Given the description of an element on the screen output the (x, y) to click on. 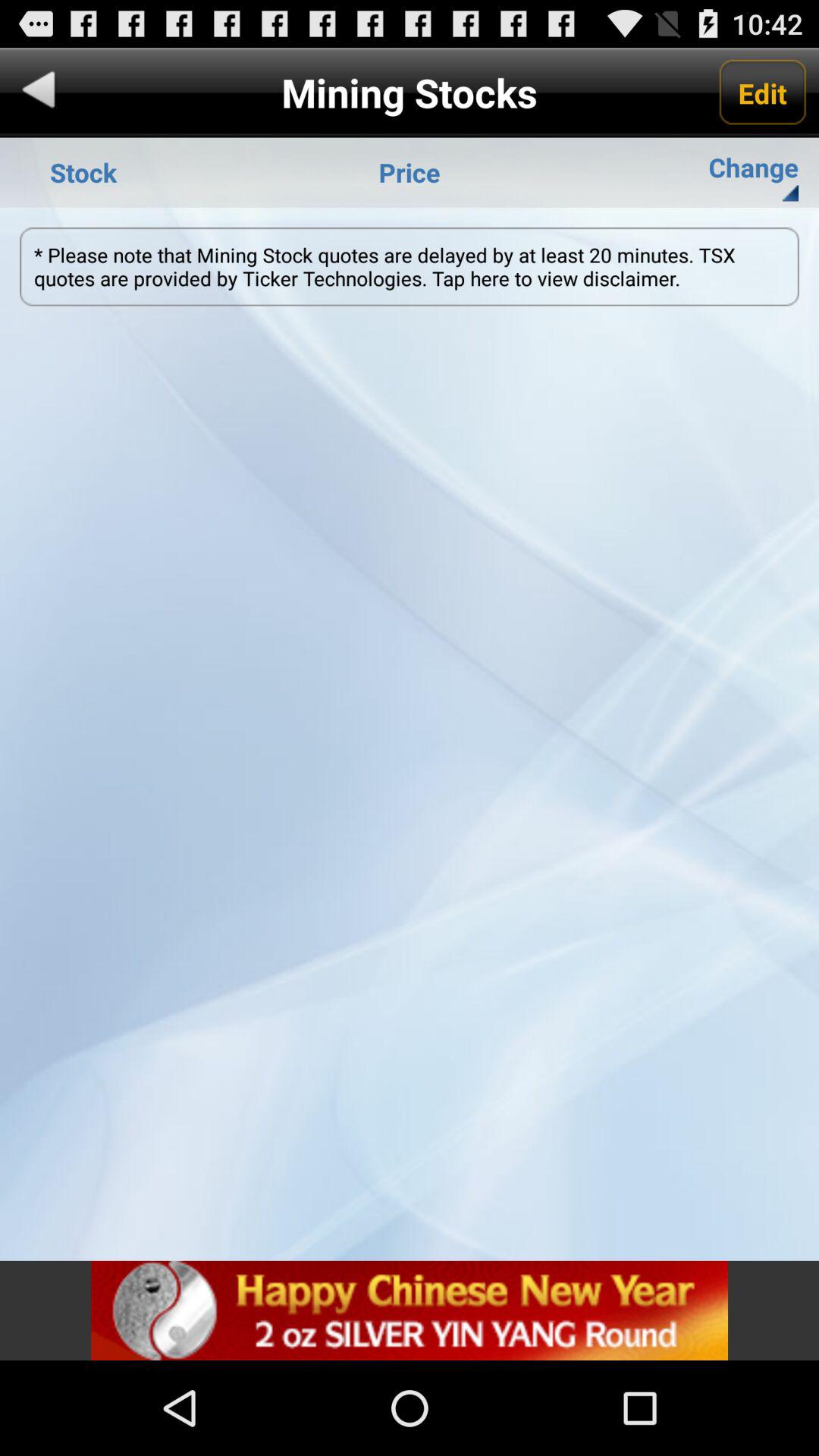
go back (39, 92)
